Given the description of an element on the screen output the (x, y) to click on. 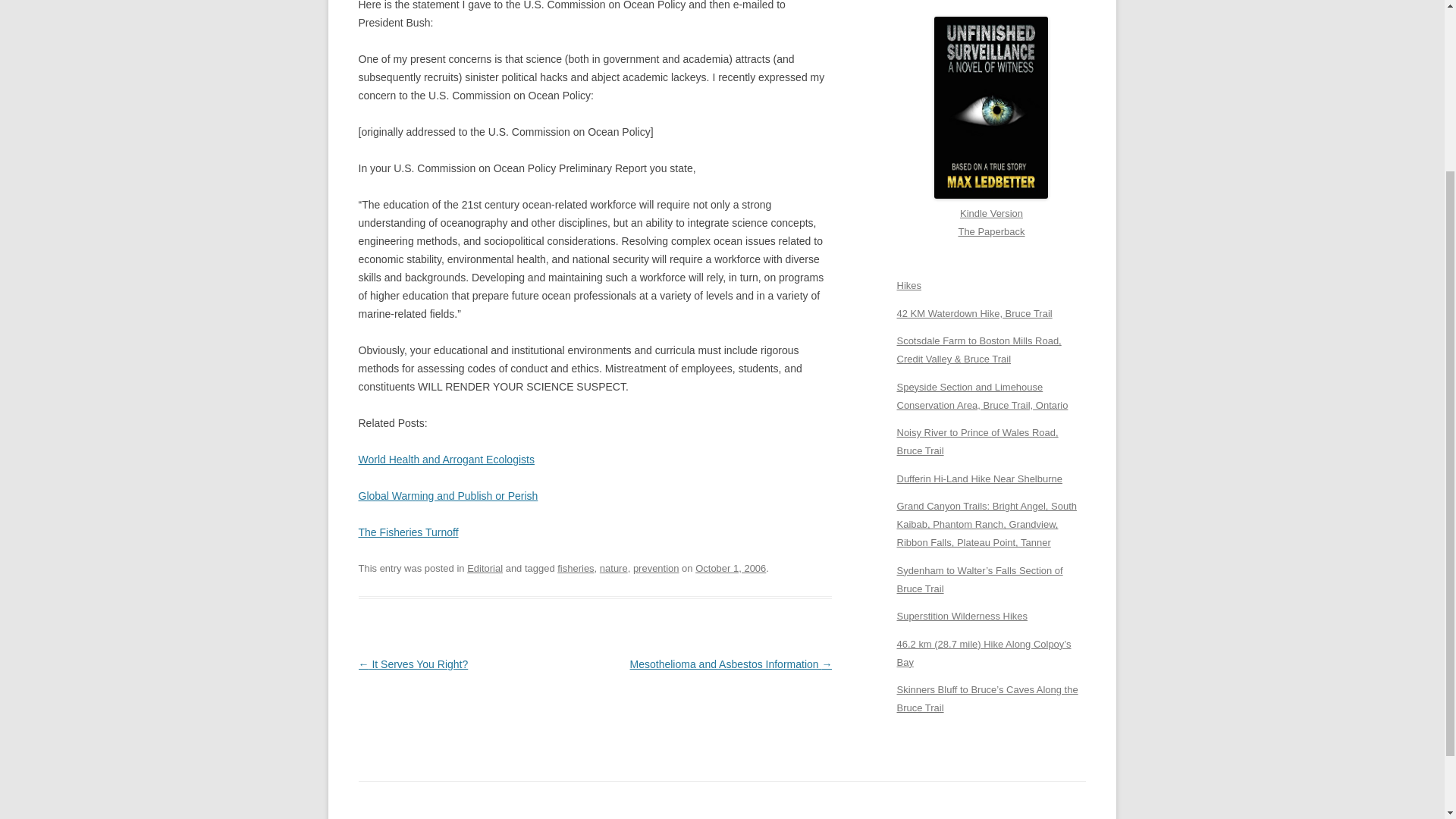
fisheries (575, 568)
42 KM Waterdown Hike, Bruce Trail (973, 313)
Global Warming and Publish or Perish (447, 495)
nature (613, 568)
World Health and Arrogant Ecologists (446, 459)
The Fisheries Turnoff (408, 532)
prevention (656, 568)
11:54 am (730, 568)
Dufferin Hi-Land Hike Near Shelburne (978, 478)
Noisy River to Prince of Wales Road, Bruce Trail (977, 441)
Editorial (484, 568)
Kindle Version (991, 204)
The Paperback (991, 230)
Hikes (908, 285)
